Given the description of an element on the screen output the (x, y) to click on. 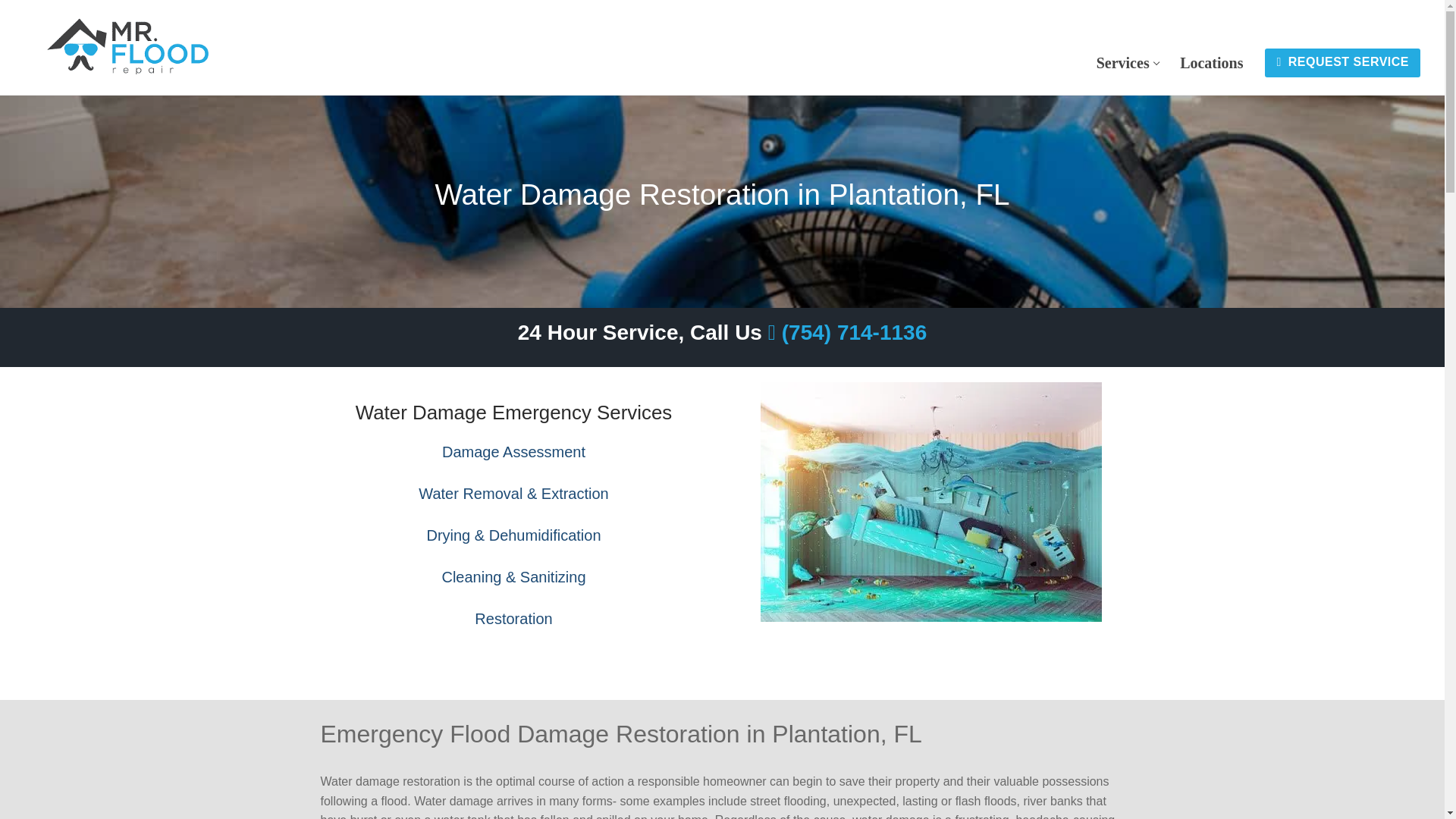
Locations (1211, 62)
Restoration (1126, 62)
Damage Assessment (512, 618)
REQUEST SERVICE (513, 451)
